Given the description of an element on the screen output the (x, y) to click on. 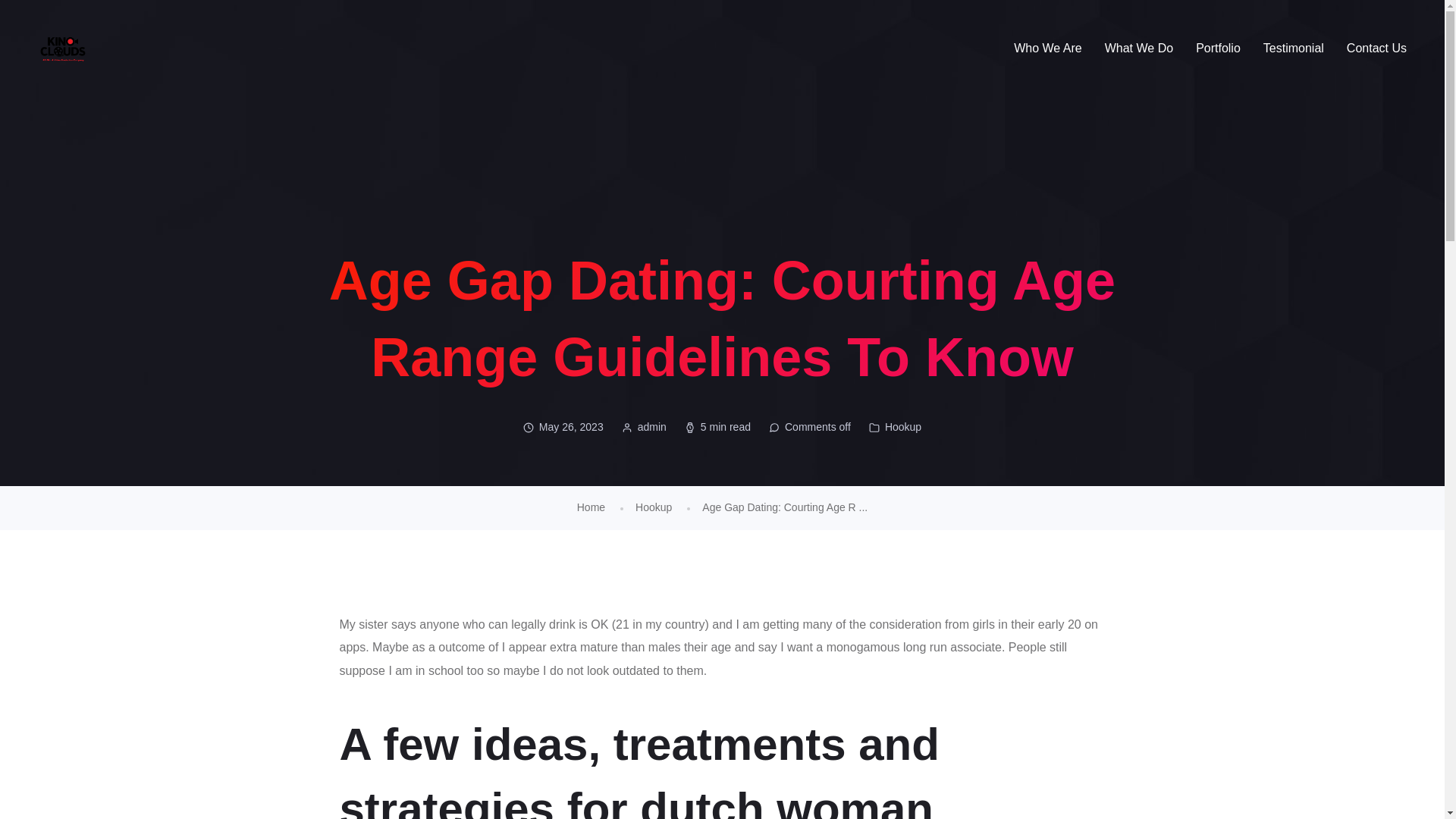
Home (590, 507)
Hookup (652, 507)
Who We Are (1047, 48)
Testimonial (1293, 48)
Hookup (903, 426)
Contact Us (1376, 48)
Home (590, 507)
Kino Clouds (62, 48)
Age Gap Dating: Courting Age Range Guidelines To Know (784, 507)
What We Do (1139, 48)
